Given the description of an element on the screen output the (x, y) to click on. 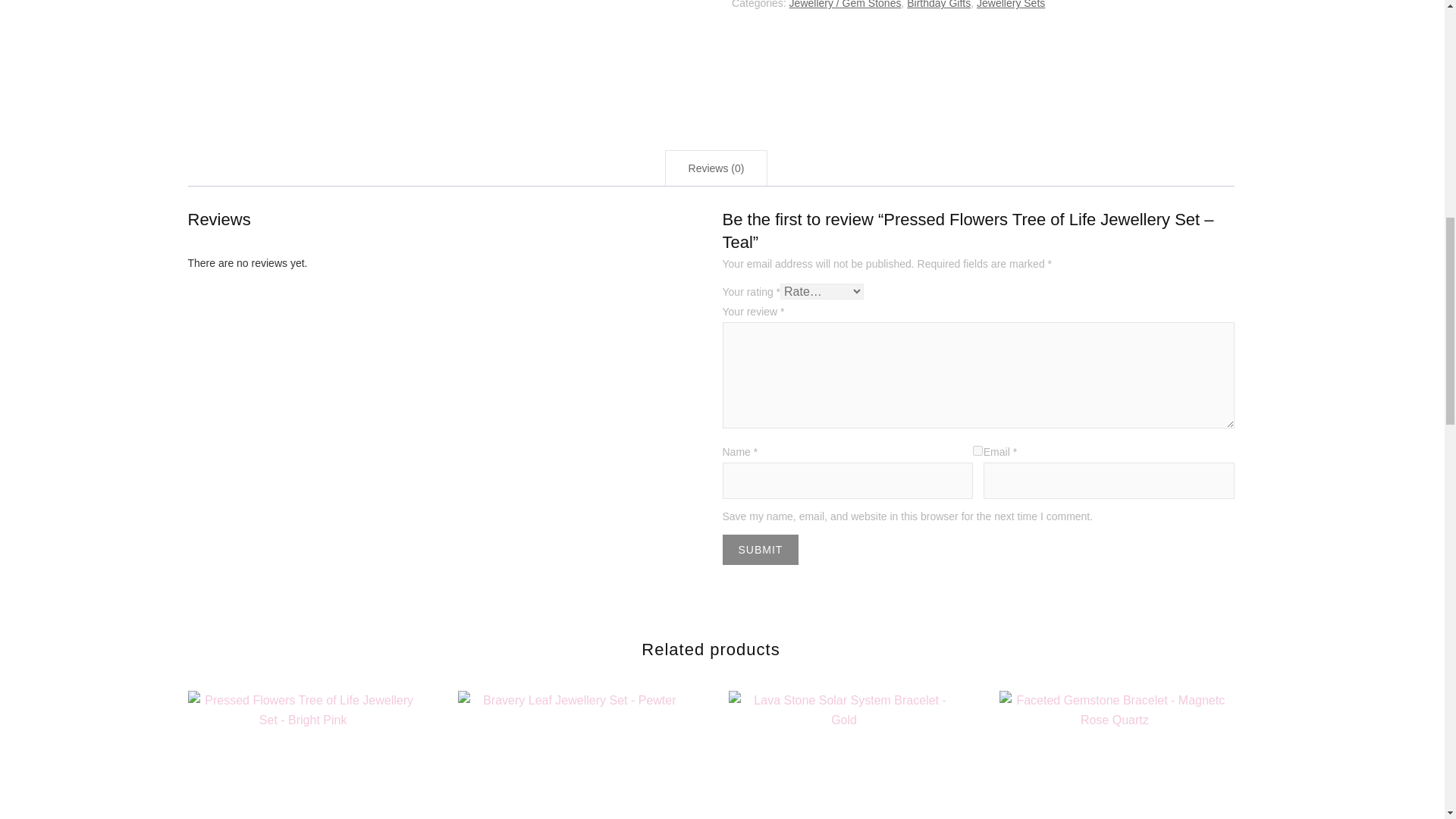
yes (977, 450)
Submit (759, 549)
